Given the description of an element on the screen output the (x, y) to click on. 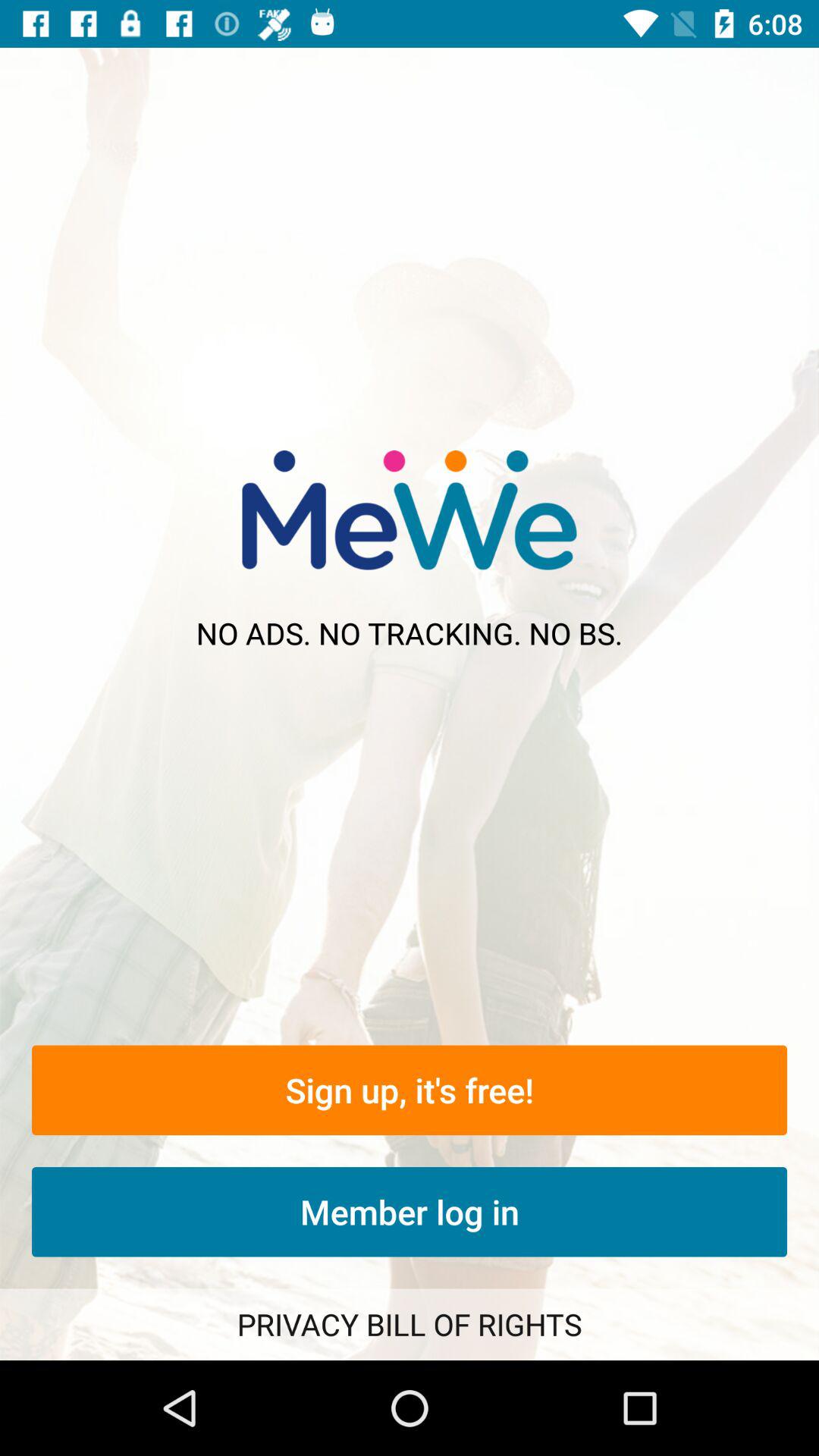
scroll to sign up it item (409, 1090)
